Given the description of an element on the screen output the (x, y) to click on. 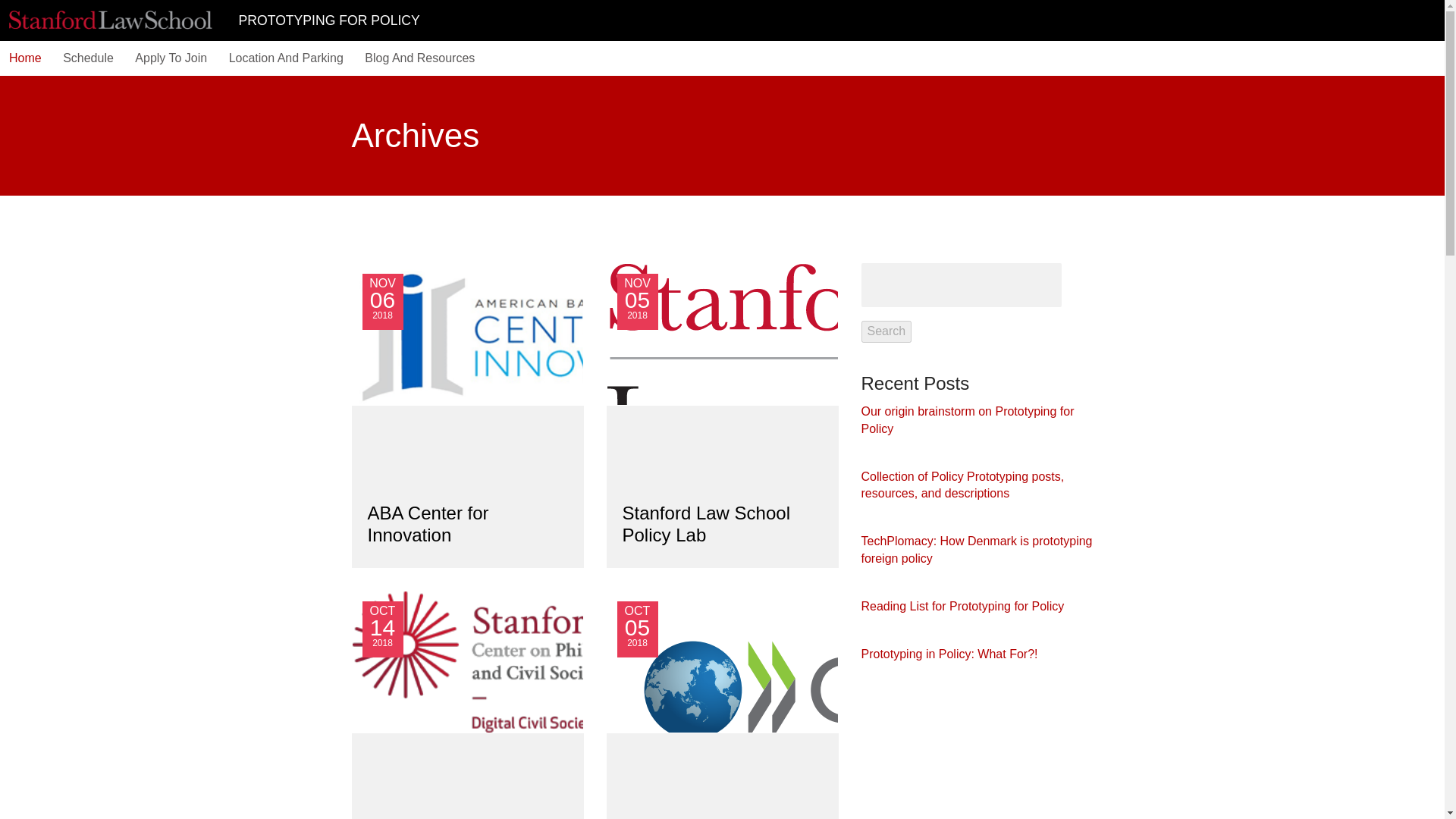
Schedule (87, 58)
Prototyping in Policy: What For?! (523, 660)
ABA Center for Innovation (949, 653)
TechPlomacy: How Denmark is prototyping foreign policy (846, 703)
Search (466, 524)
Prototyping for Policy (977, 549)
Location And Parking (886, 332)
